Given the description of an element on the screen output the (x, y) to click on. 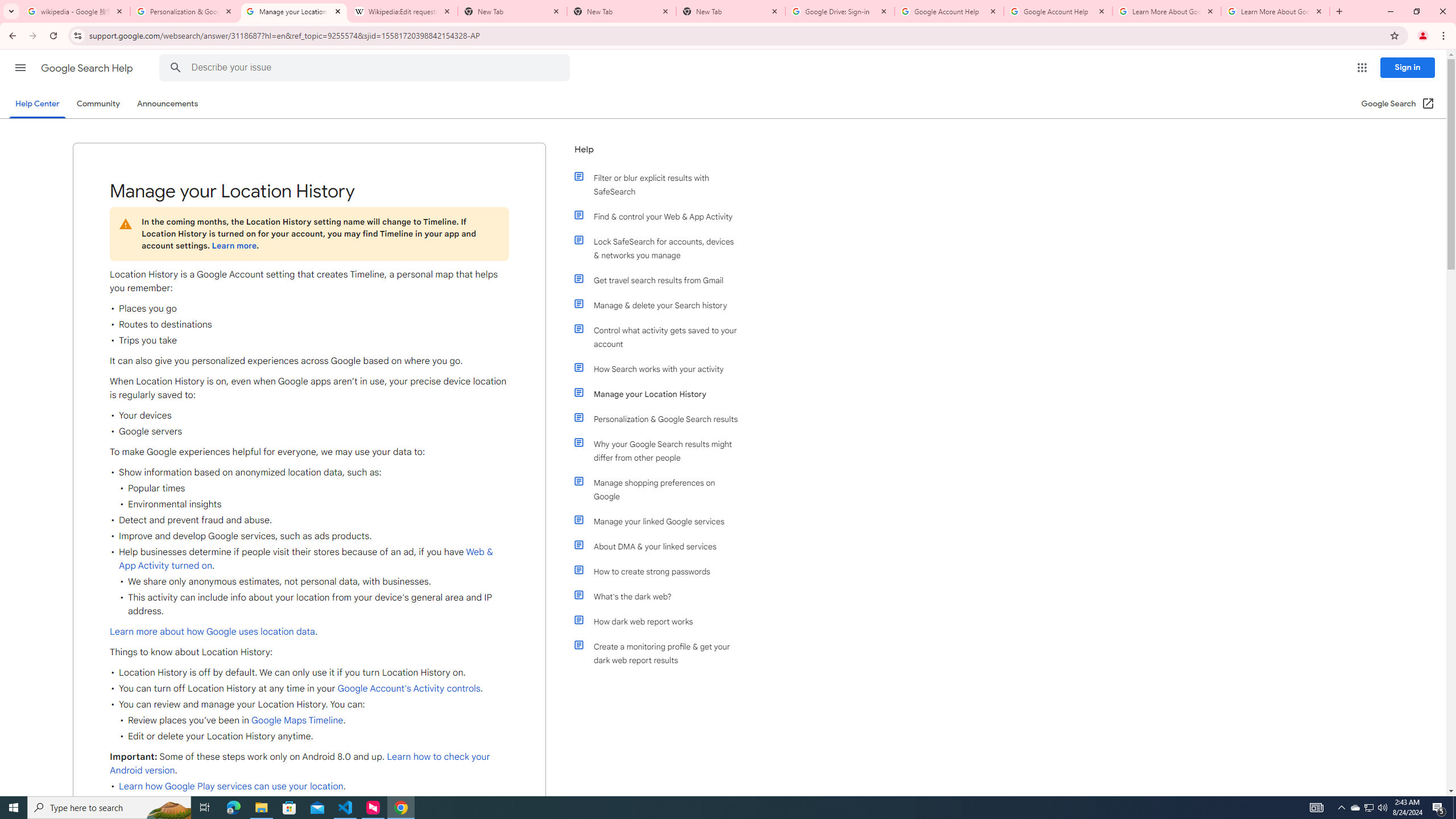
Manage your linked Google services (661, 521)
How dark web report works (661, 621)
Learn how Google Play services can use your location (231, 785)
Google Account Help (949, 11)
View site information (77, 35)
New Tab (621, 11)
Manage your Location History (661, 394)
Learn more (233, 245)
How to create strong passwords (661, 571)
Announcements (168, 103)
Filter or blur explicit results with SafeSearch (661, 184)
